Given the description of an element on the screen output the (x, y) to click on. 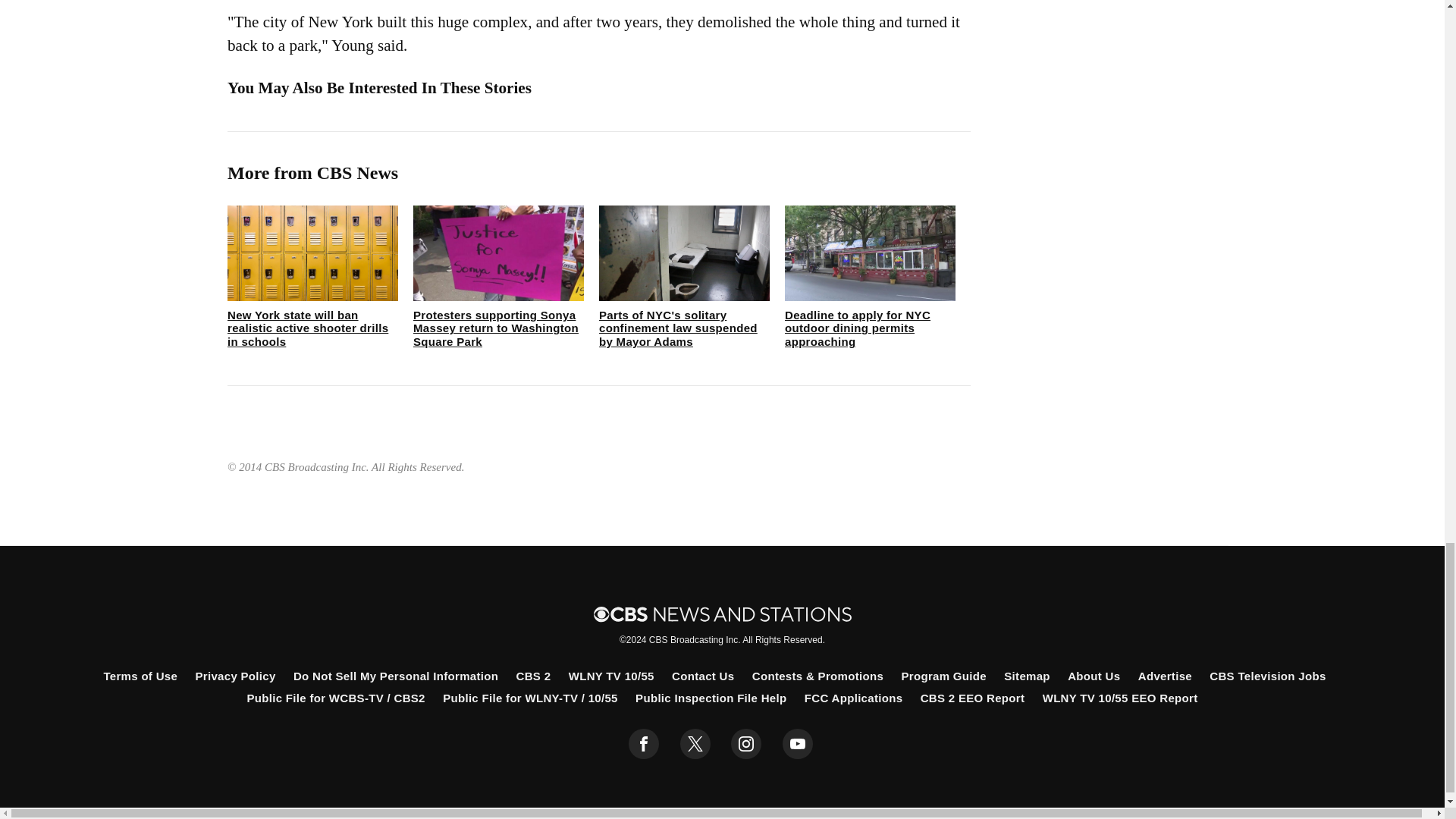
facebook (643, 743)
instagram (745, 743)
youtube (797, 743)
twitter (694, 743)
